Given the description of an element on the screen output the (x, y) to click on. 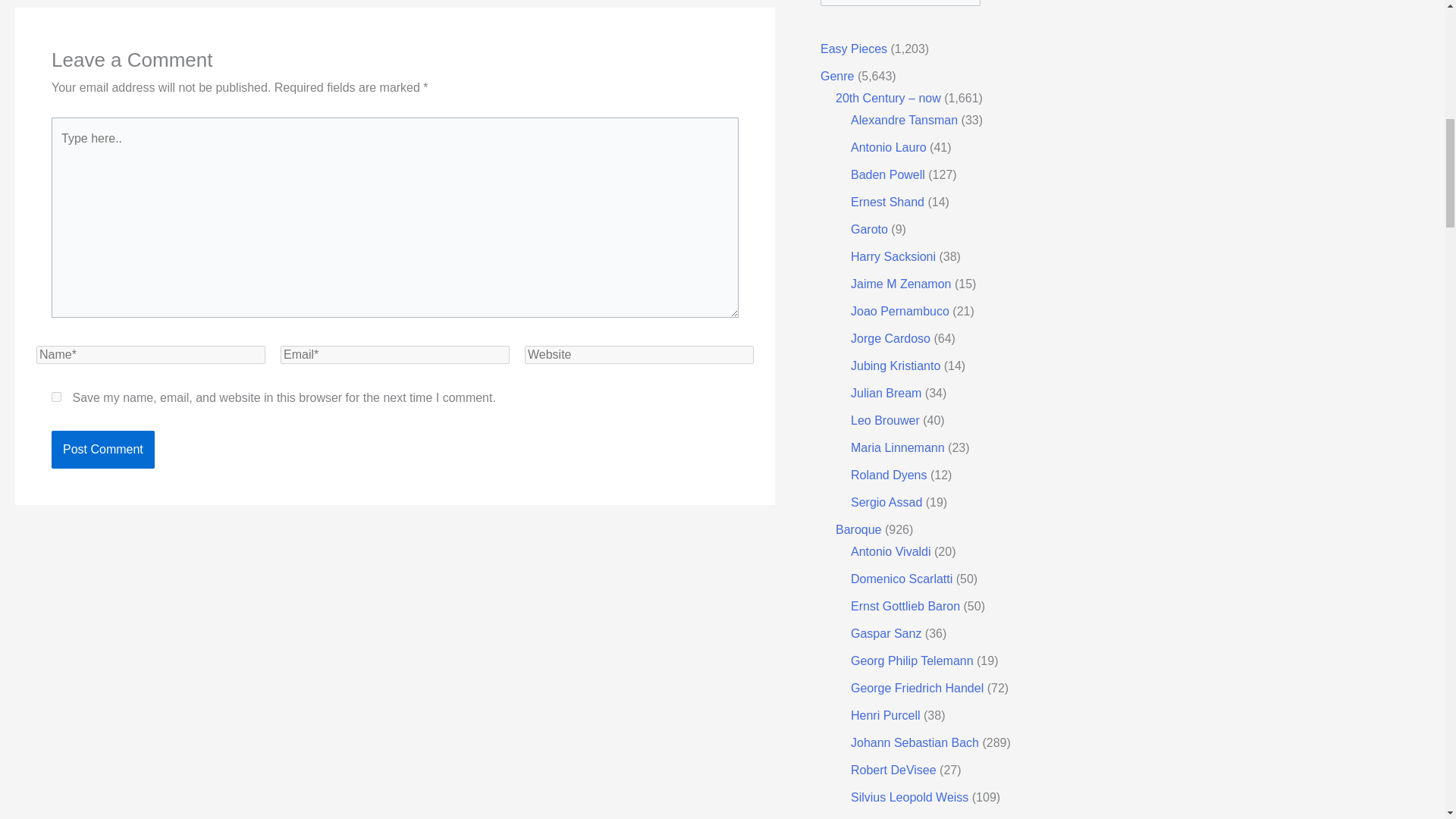
yes (55, 397)
Post Comment (102, 449)
